Given the description of an element on the screen output the (x, y) to click on. 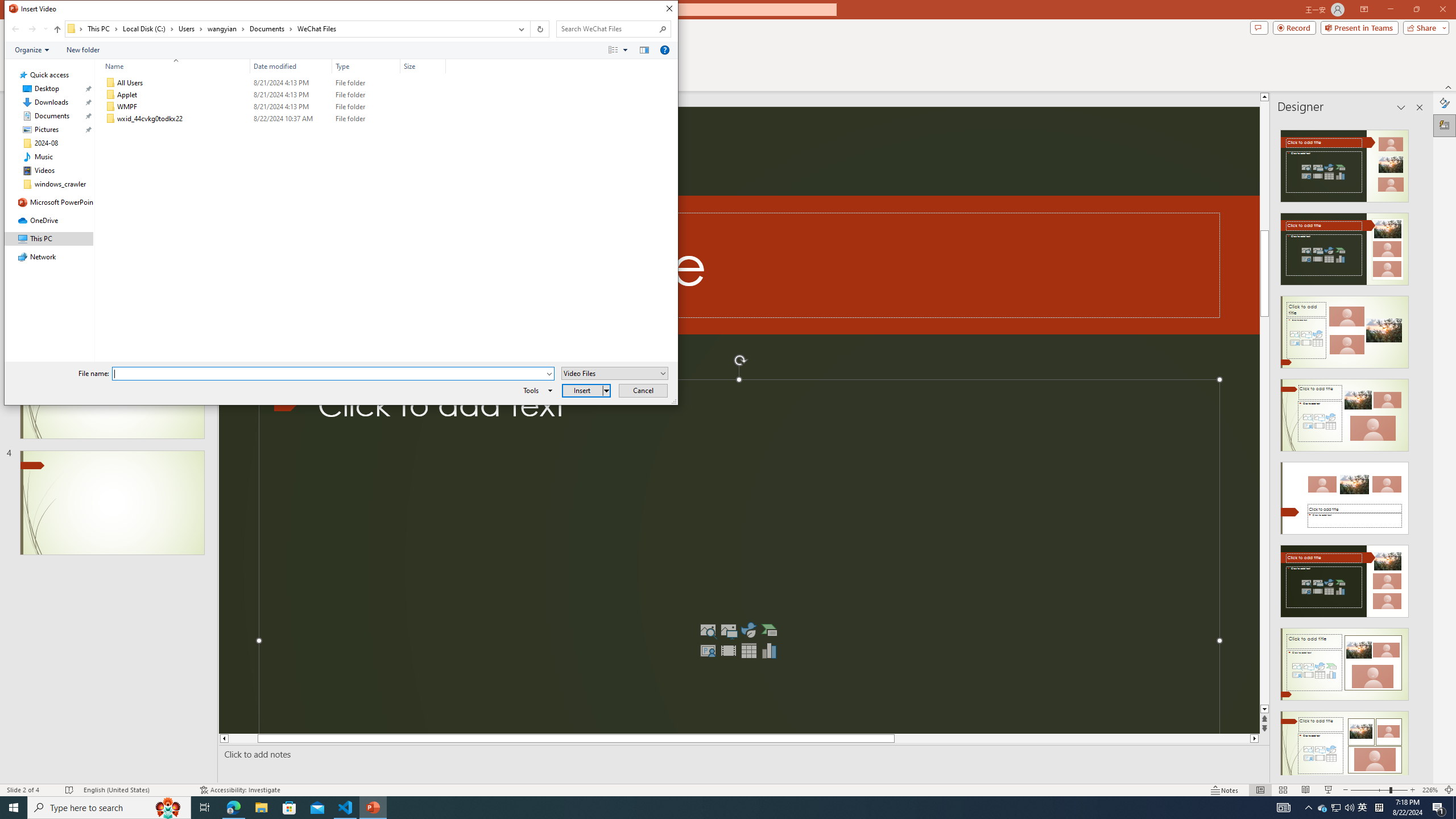
Insert Table (748, 650)
Size (422, 65)
File name: (329, 373)
Local Disk (C:) (148, 28)
Name (183, 119)
Insert an Icon (748, 629)
